Given the description of an element on the screen output the (x, y) to click on. 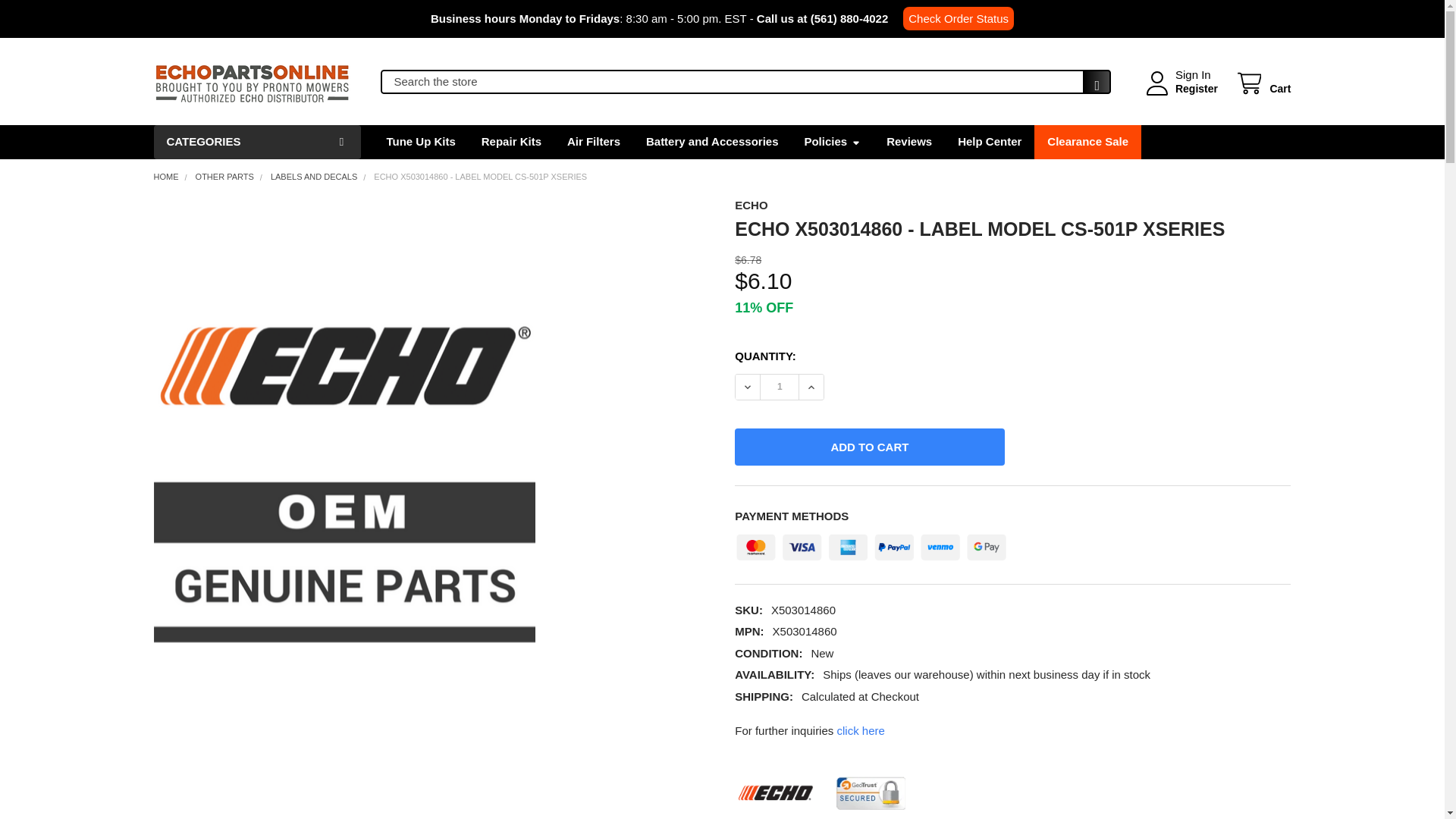
Payment Methods (871, 543)
Cart (1262, 83)
Register (1195, 89)
Echo Original part (821, 793)
1 (778, 386)
Sign In (1192, 74)
Search (1092, 86)
Add to Cart (869, 447)
Check Order Status (957, 18)
